Given the description of an element on the screen output the (x, y) to click on. 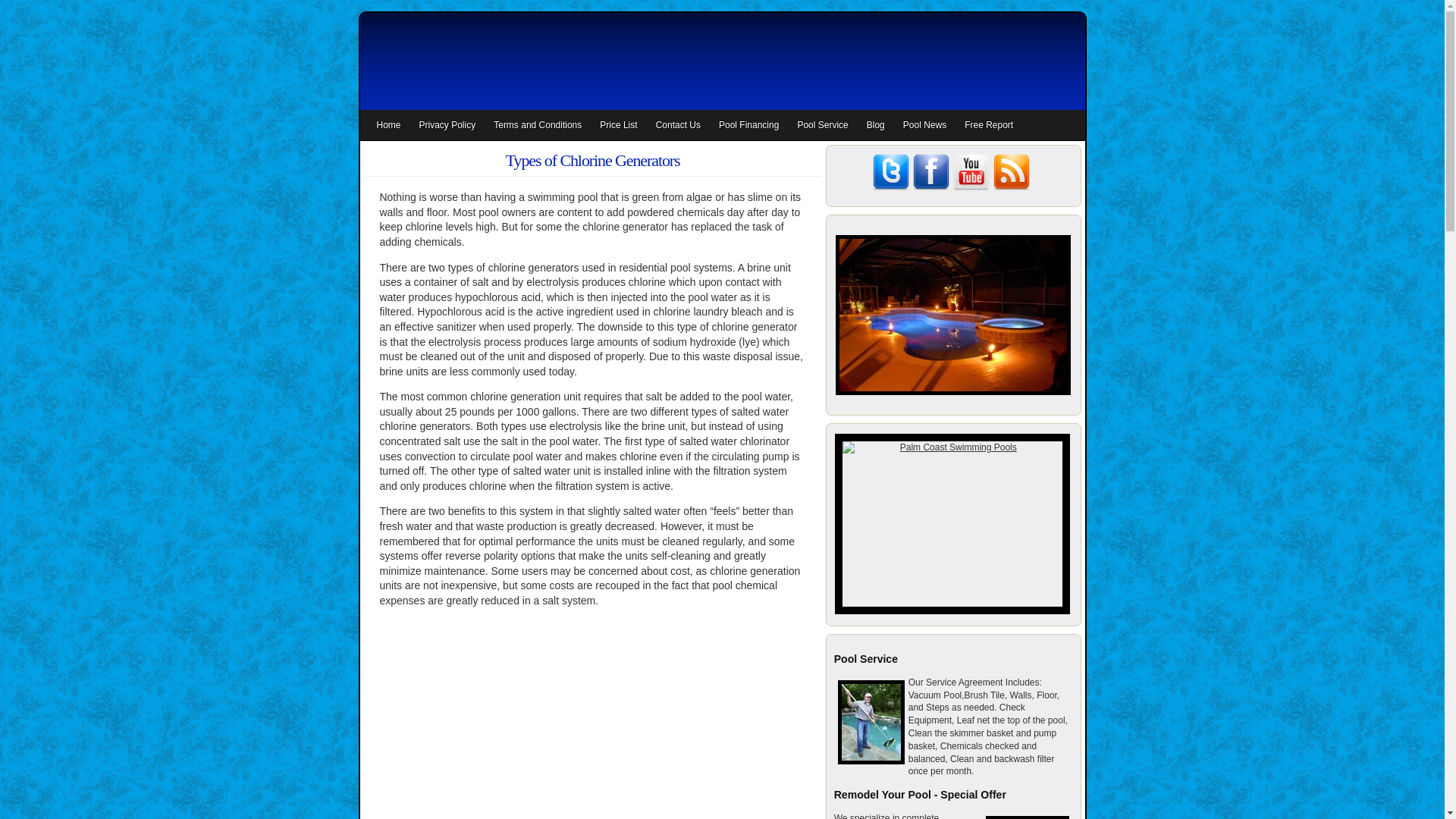
Pool Financing (748, 124)
Home (387, 124)
Privacy Policy (447, 124)
Permanent Link to Types of Chlorine Generators (592, 159)
Terms and Conditions (537, 124)
Blog (875, 124)
swimming-pool-remodelJPG (1026, 817)
Types of Chlorine Generators (592, 159)
Pool Service (822, 124)
Pool News (924, 124)
Contact Us (678, 124)
Price List (618, 124)
cool-swimming-pool-by-pool-captain-300wide (952, 314)
Free Report (988, 124)
